Given the description of an element on the screen output the (x, y) to click on. 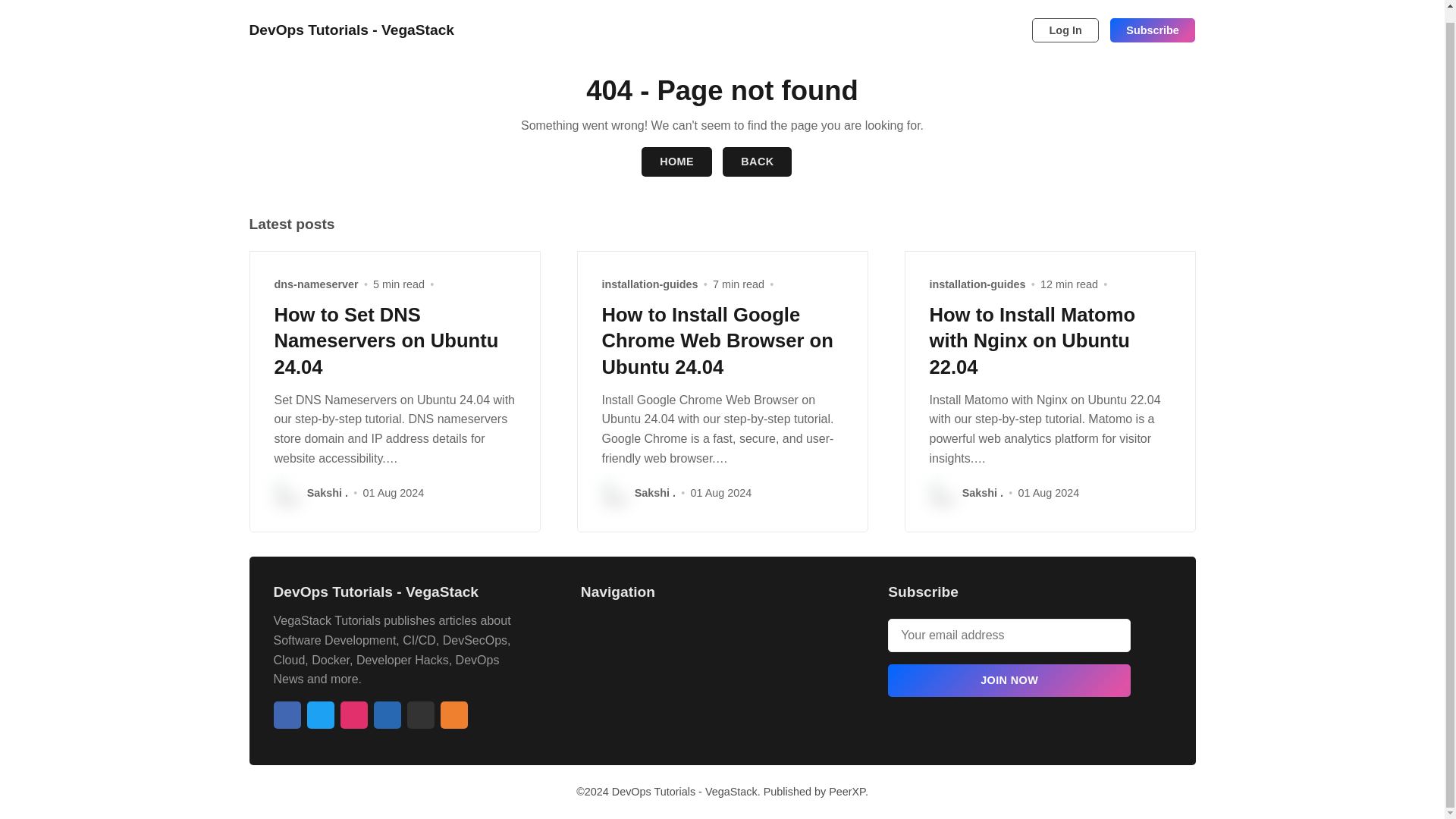
Facebook (286, 714)
installation-guides (650, 284)
Github (419, 714)
JOIN NOW (1009, 680)
How to Install Google Chrome Web Browser on Ubuntu 24.04 (717, 340)
How to Install Matomo with Nginx on Ubuntu 22.04 (1032, 340)
Twitter (319, 714)
BACK (757, 161)
Instagram (352, 714)
RSS (453, 714)
Sakshi . (327, 492)
dns-nameserver (316, 284)
Log In (1065, 17)
HOME (676, 161)
Theme Toggle (990, 17)
